Given the description of an element on the screen output the (x, y) to click on. 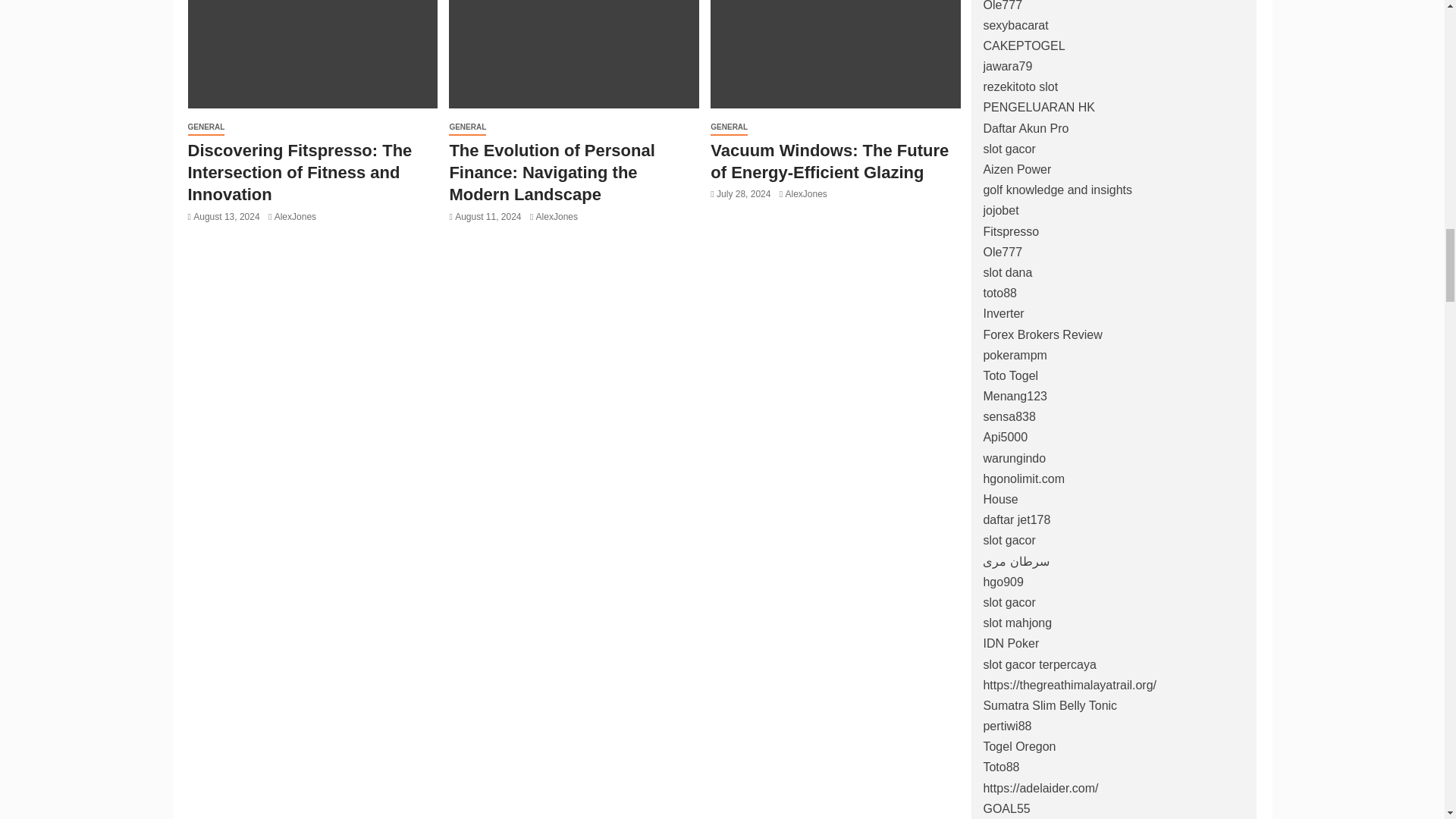
GENERAL (206, 127)
jojobet (999, 210)
AlexJones (295, 216)
